Given the description of an element on the screen output the (x, y) to click on. 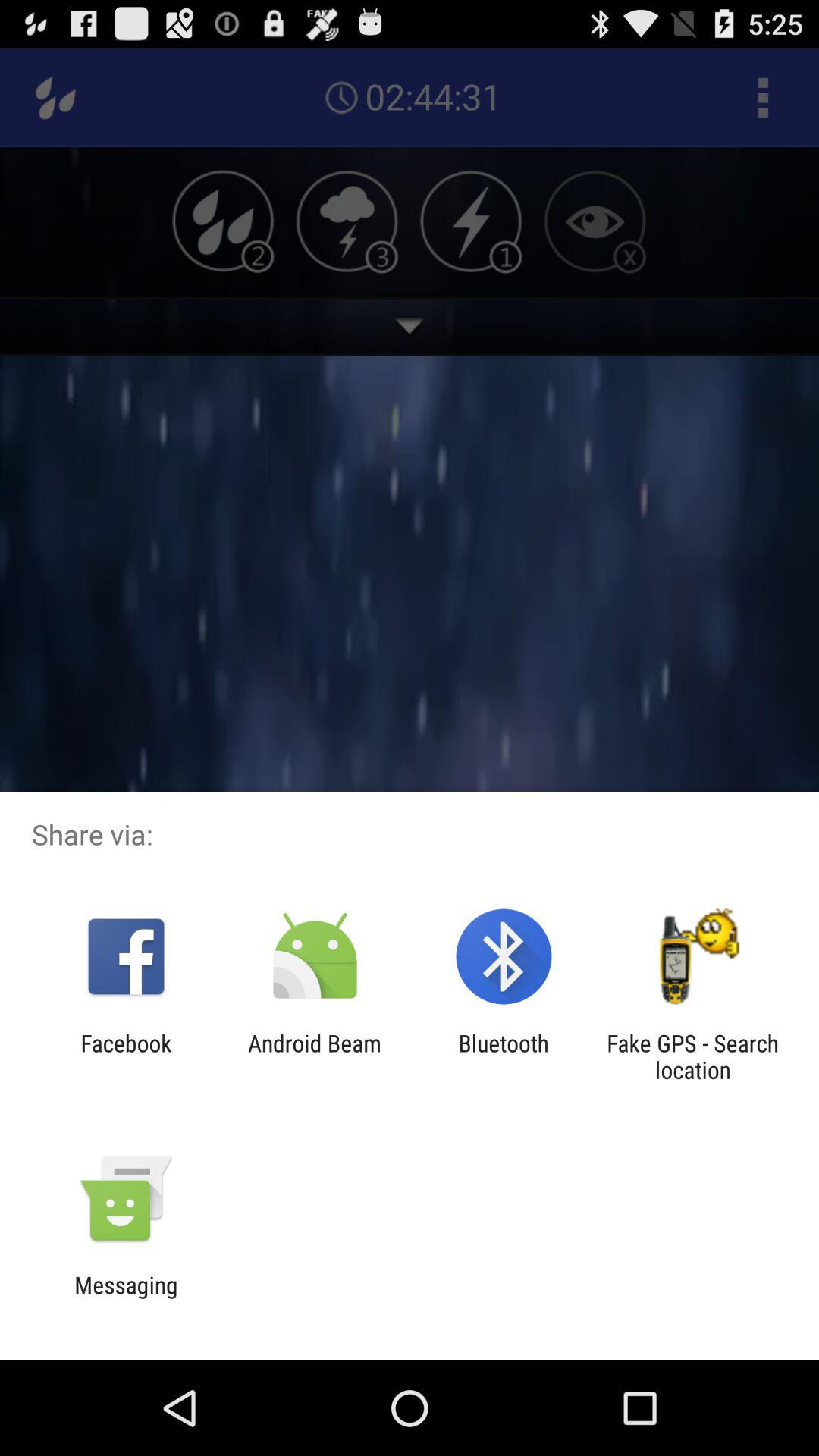
launch item next to the bluetooth app (314, 1056)
